Given the description of an element on the screen output the (x, y) to click on. 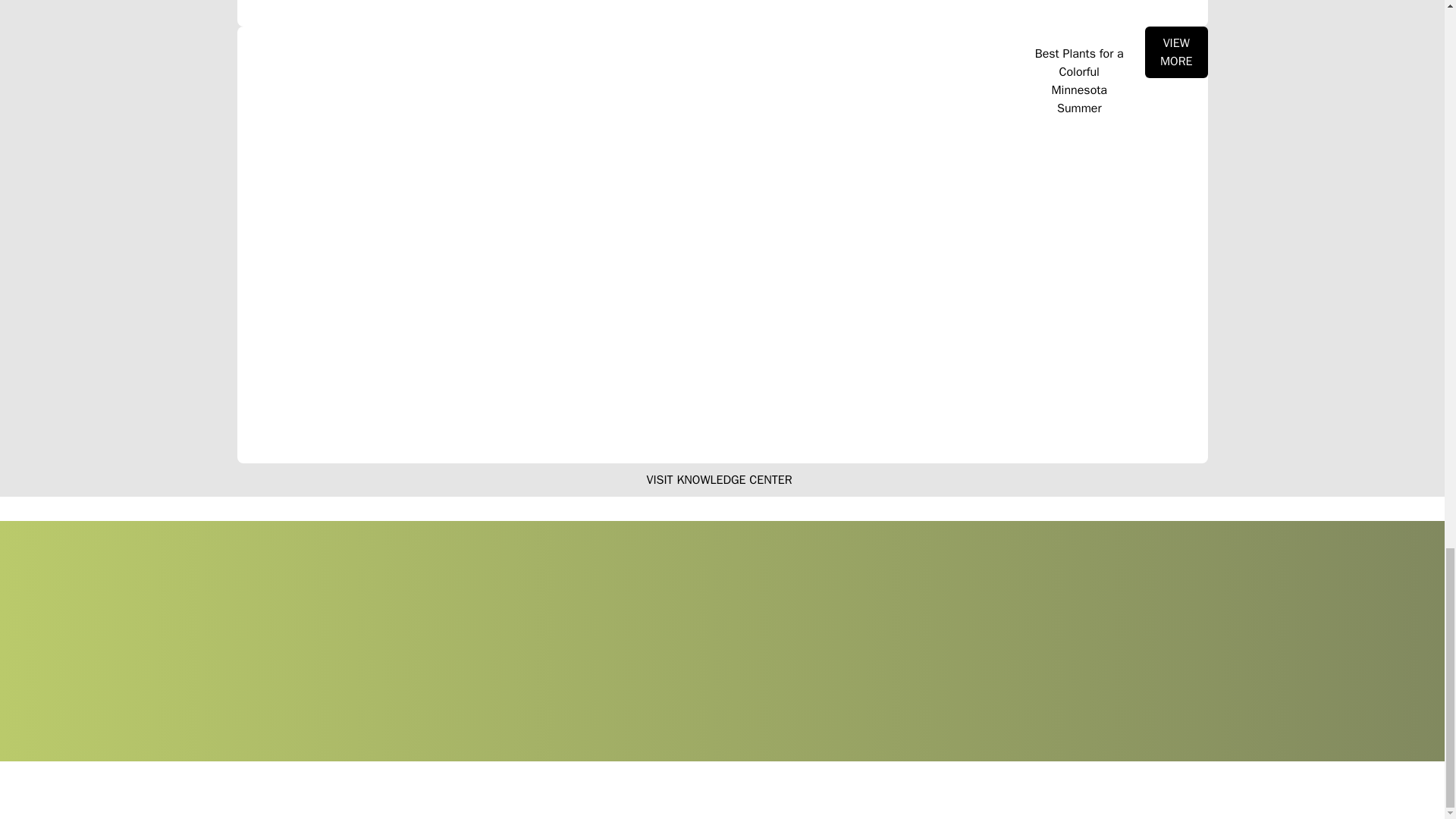
FAQs (857, 801)
Privacy Policy (814, 801)
